Given the description of an element on the screen output the (x, y) to click on. 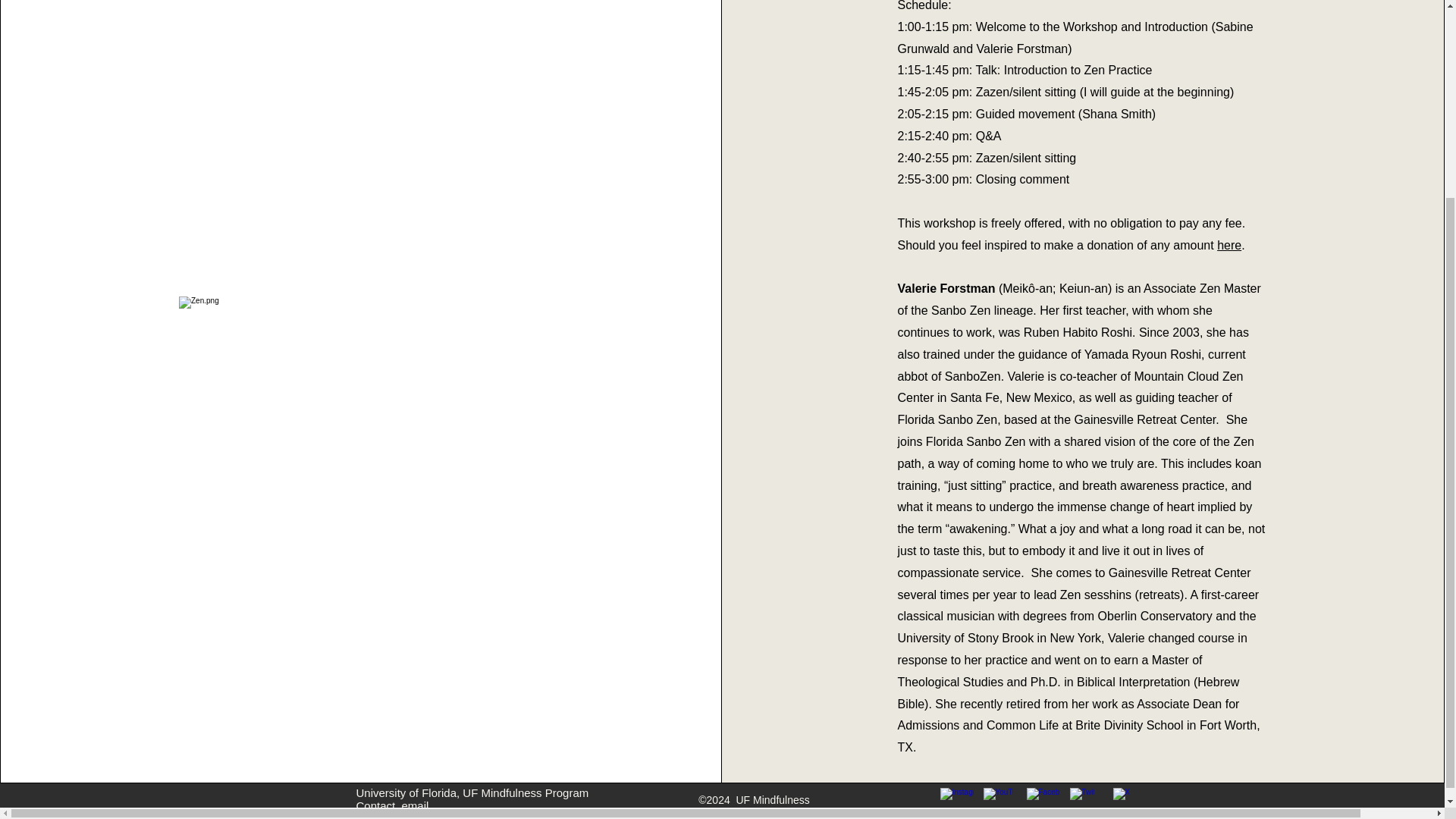
email (415, 805)
here (1229, 245)
